Given the description of an element on the screen output the (x, y) to click on. 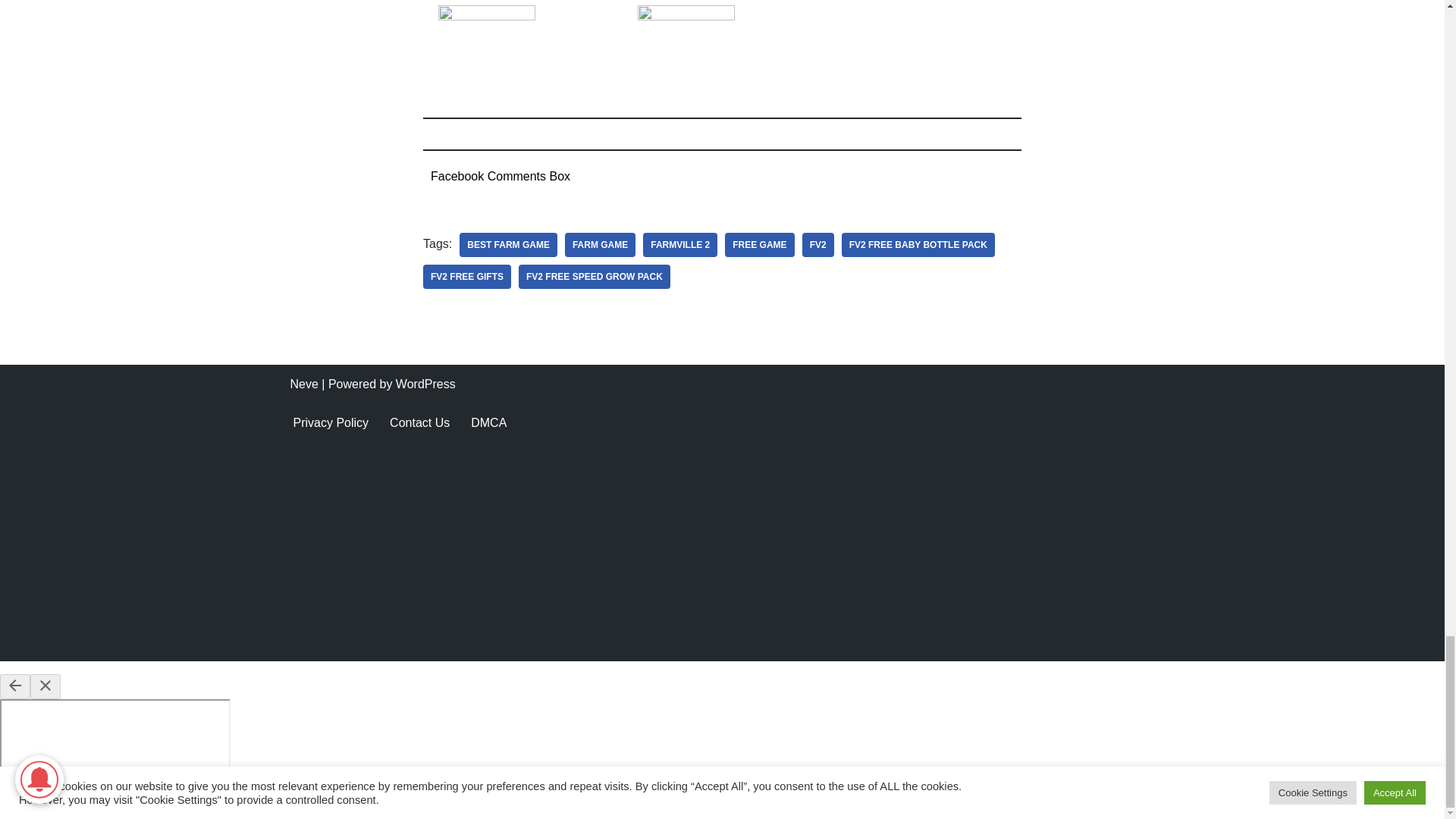
fv2 Free Baby Bottle Pack (917, 244)
free game (759, 244)
Farmville 2 (680, 244)
fv2 Free Gifts (467, 276)
Fv2 Free Speed Grow Pack (593, 276)
fv2 (818, 244)
best farm game (508, 244)
farm game (599, 244)
